Given the description of an element on the screen output the (x, y) to click on. 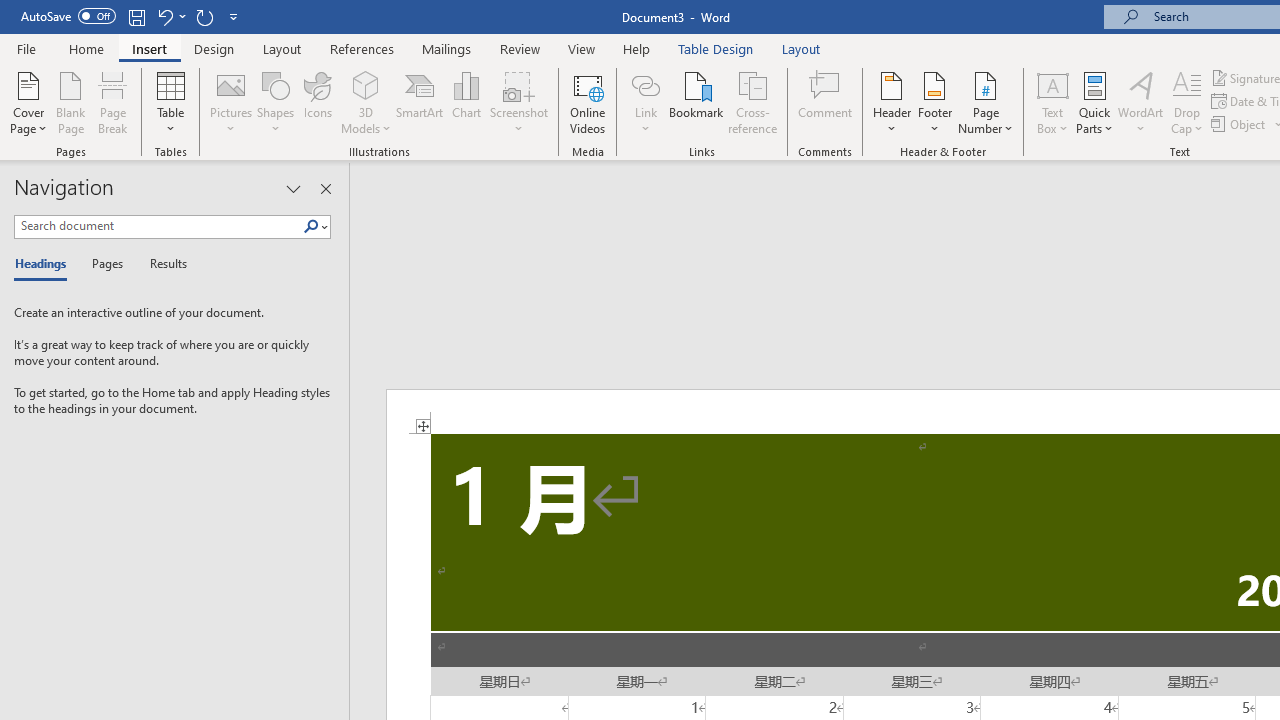
Quick Parts (1094, 102)
WordArt (1141, 102)
Footer (934, 102)
Header (891, 102)
Pictures (230, 102)
